Given the description of an element on the screen output the (x, y) to click on. 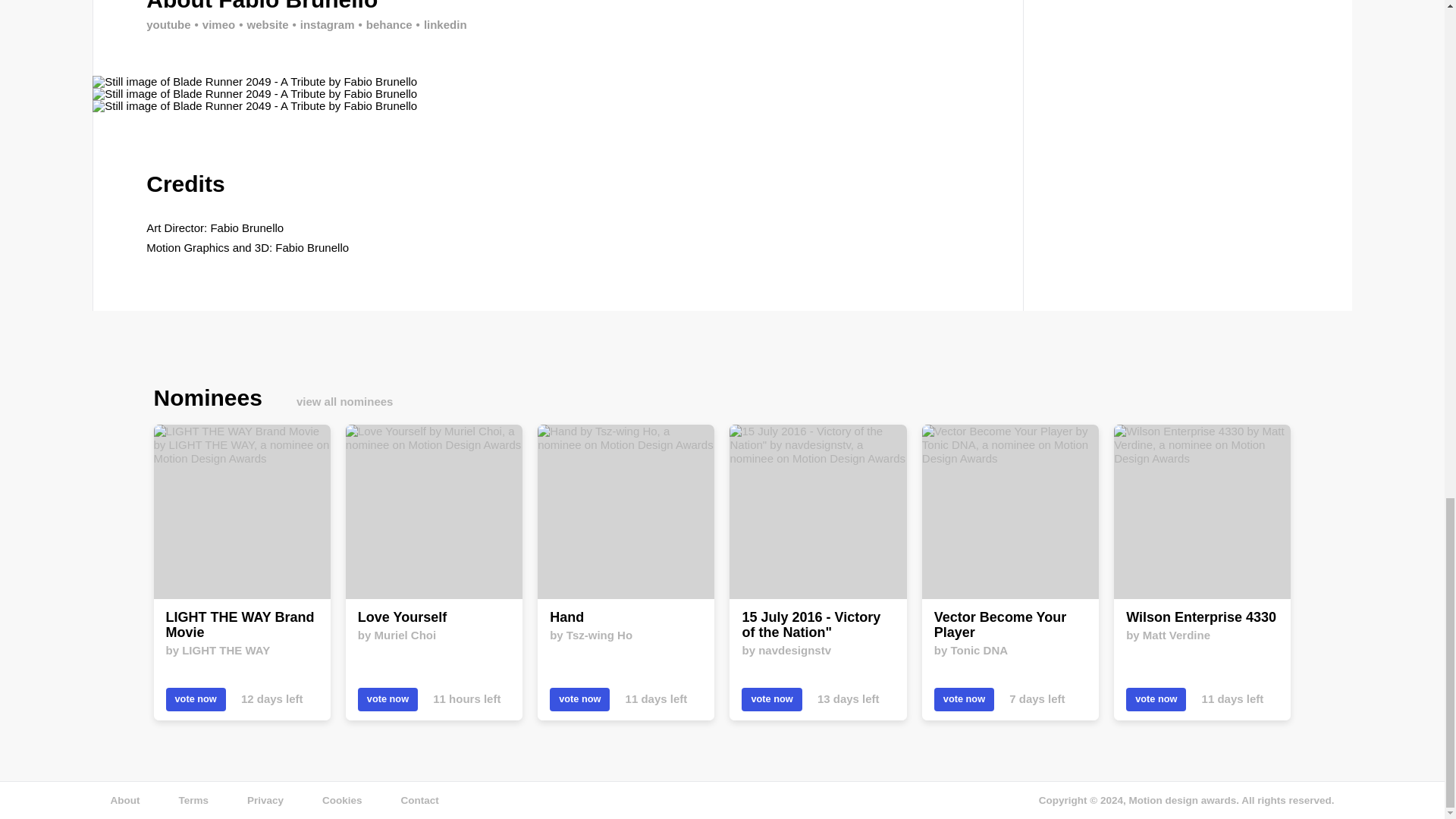
vote now (580, 699)
linkedin of Fabio Brunello (439, 24)
linkedin (439, 24)
vimeo (212, 24)
youtube of Fabio Brunello (168, 24)
vimeo of Fabio Brunello (212, 24)
view all nominees (345, 401)
website (261, 24)
website of Fabio Brunello (261, 24)
instagram of Fabio Brunello (321, 24)
behance (382, 24)
behance of Fabio Brunello (382, 24)
instagram (321, 24)
vote now (195, 699)
vote now (387, 699)
